Given the description of an element on the screen output the (x, y) to click on. 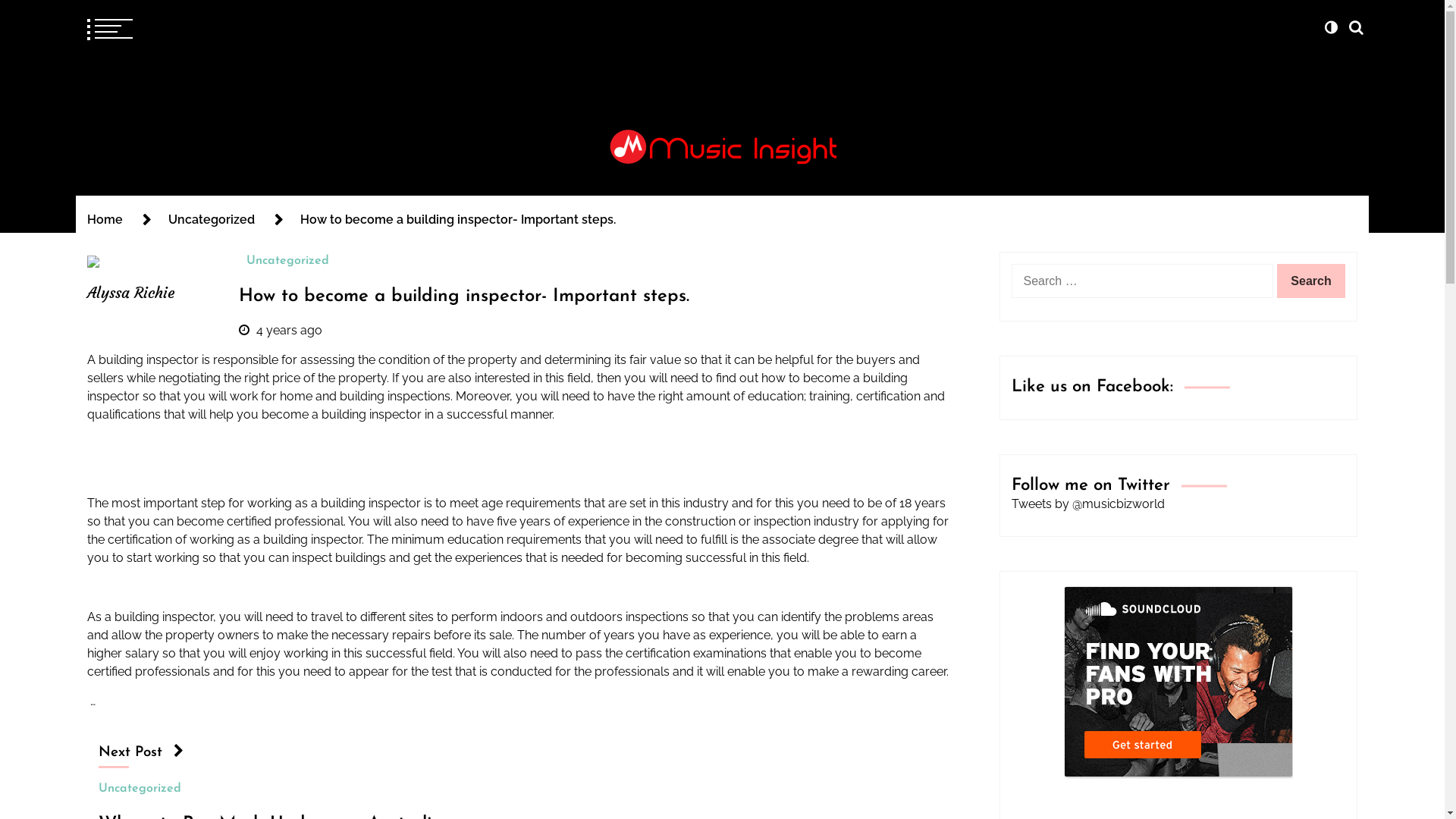
Home Element type: text (104, 220)
building inspections Element type: text (394, 396)
Uncategorized Element type: text (287, 261)
Tweets by @musicbizworld Element type: text (1087, 504)
Alyssa Richie Element type: text (151, 277)
Search Element type: text (1311, 280)
How to become a building inspector- Important steps. Element type: text (463, 297)
Music Insight Element type: text (225, 203)
How to become a building inspector- Important steps. Element type: text (457, 220)
Uncategorized Element type: text (139, 789)
Uncategorized Element type: text (211, 220)
Next Post Element type: text (140, 752)
